Given the description of an element on the screen output the (x, y) to click on. 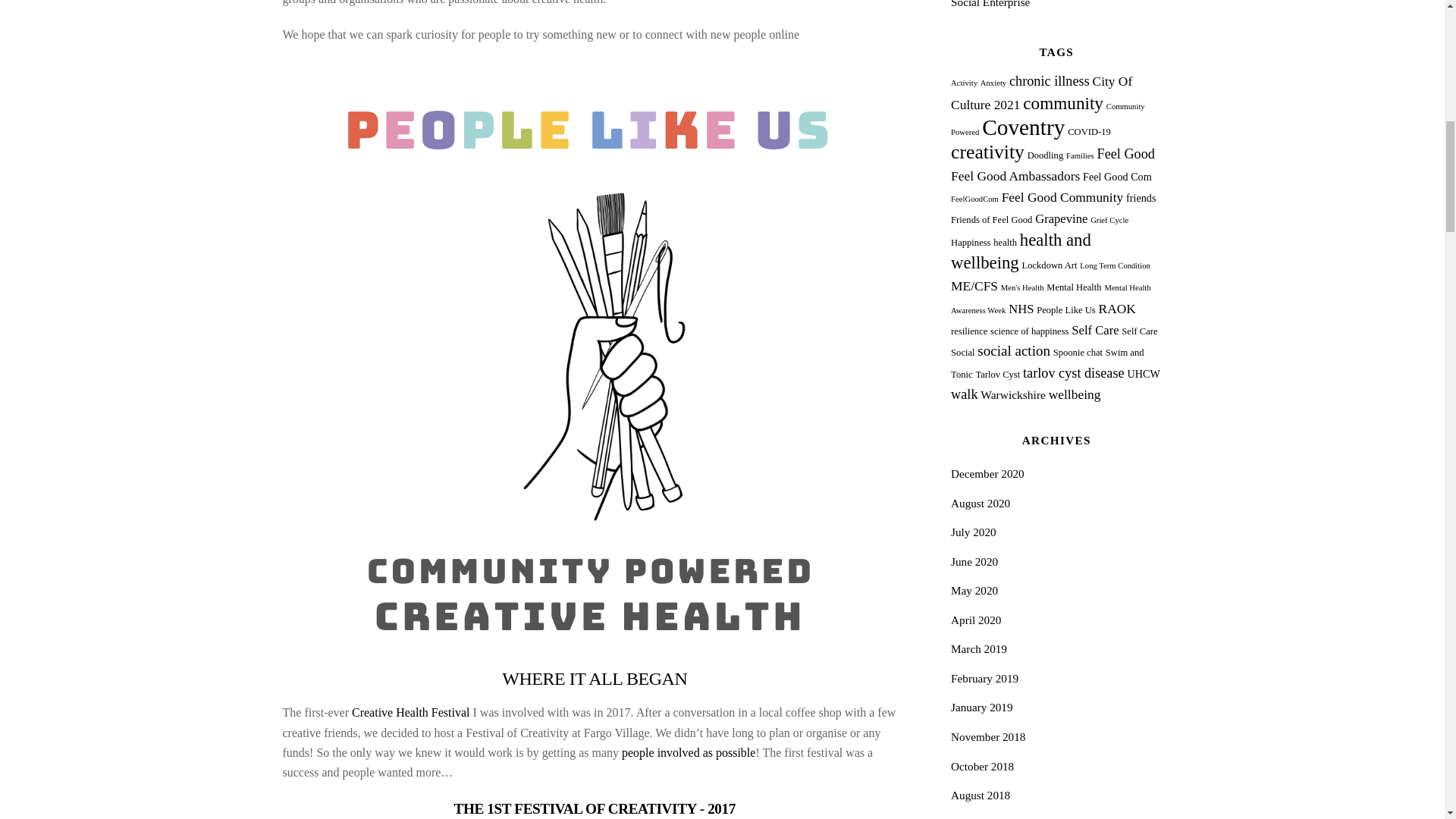
people involved as possible (688, 752)
Creative Health Festival (411, 712)
